Given the description of an element on the screen output the (x, y) to click on. 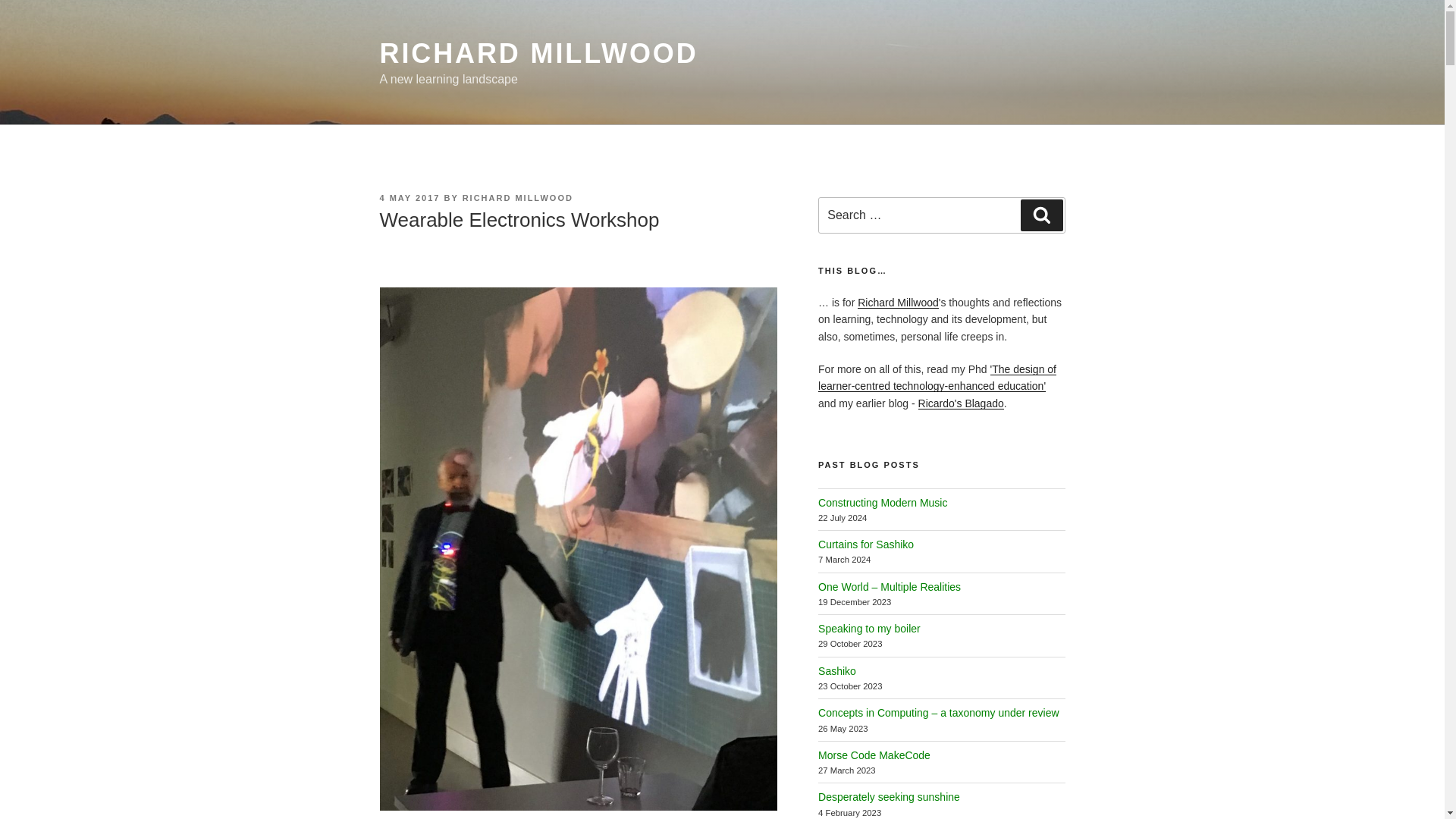
RICHARD MILLWOOD (537, 52)
RICHARD MILLWOOD (518, 197)
4 MAY 2017 (408, 197)
